Given the description of an element on the screen output the (x, y) to click on. 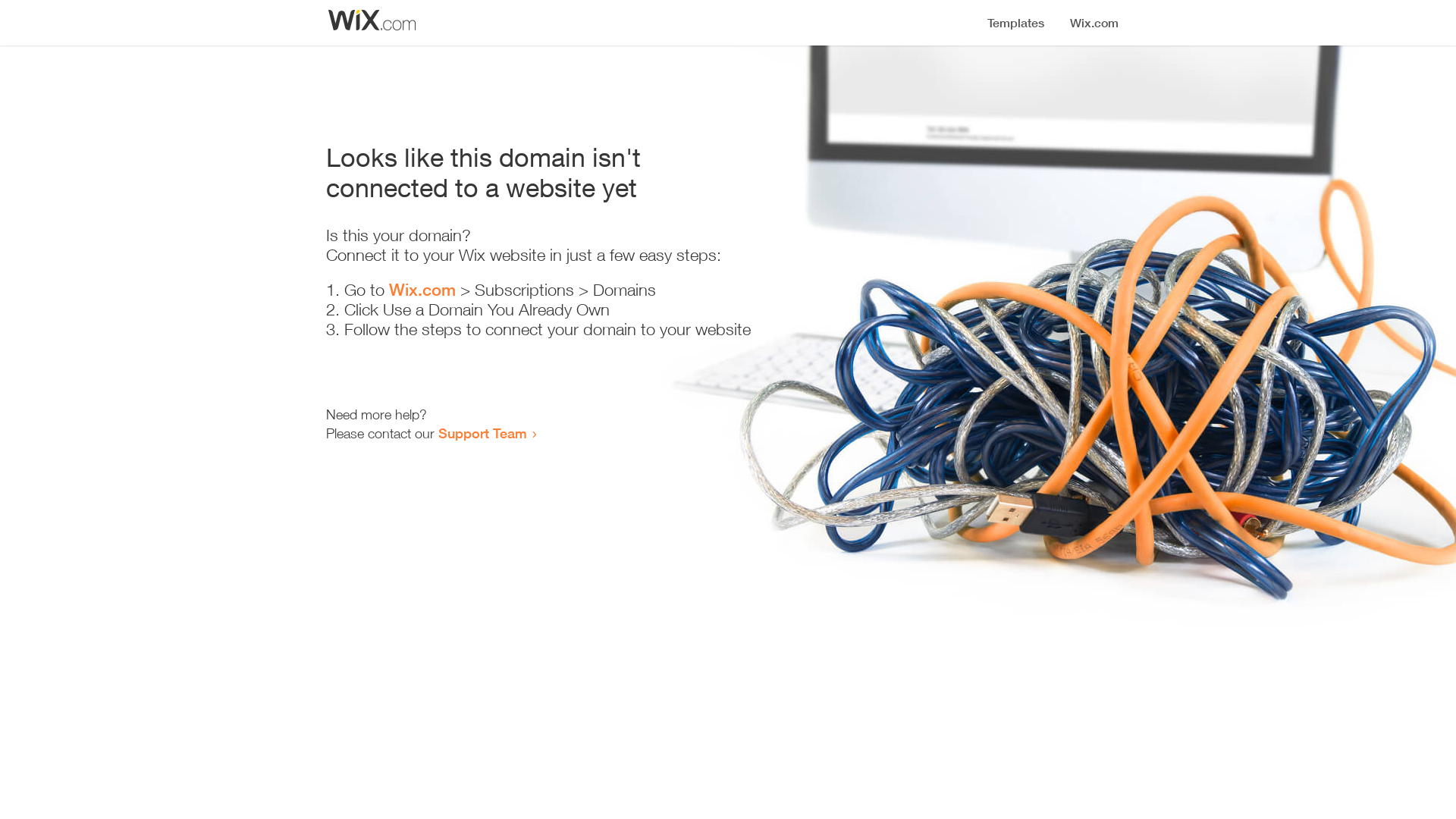
Wix.com Element type: text (422, 289)
Support Team Element type: text (482, 432)
